Given the description of an element on the screen output the (x, y) to click on. 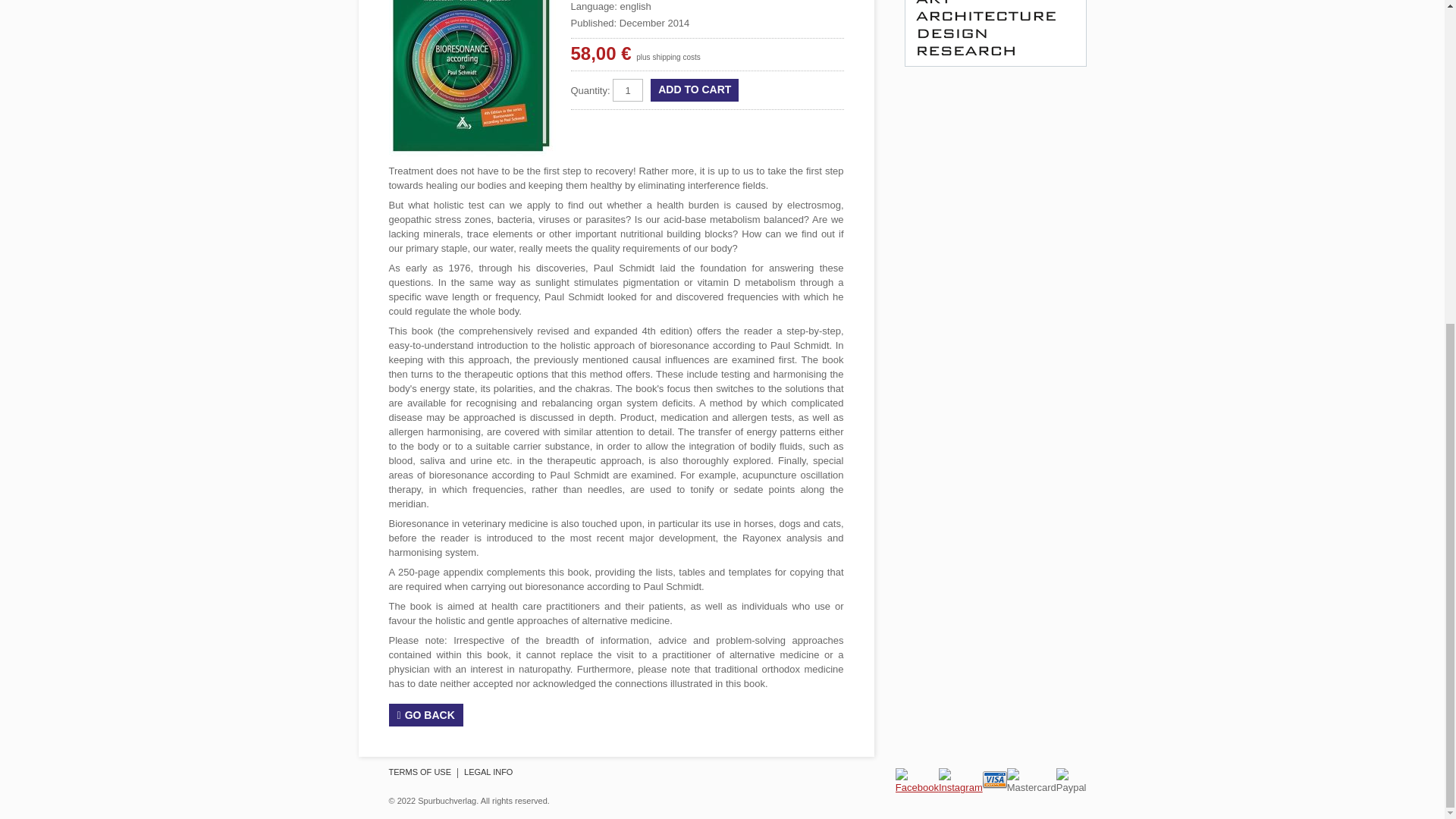
TERMS OF USE (419, 773)
Add To Cart (694, 89)
GO BACK (425, 714)
Buchtitel "Bioresonance According to Paul Schmidt" (471, 78)
Art Architecture Design Research (995, 33)
LEGAL INFO (488, 773)
Add To Cart (694, 89)
1 (627, 89)
Art Architecture Design Research (995, 62)
Go back (425, 714)
